Given the description of an element on the screen output the (x, y) to click on. 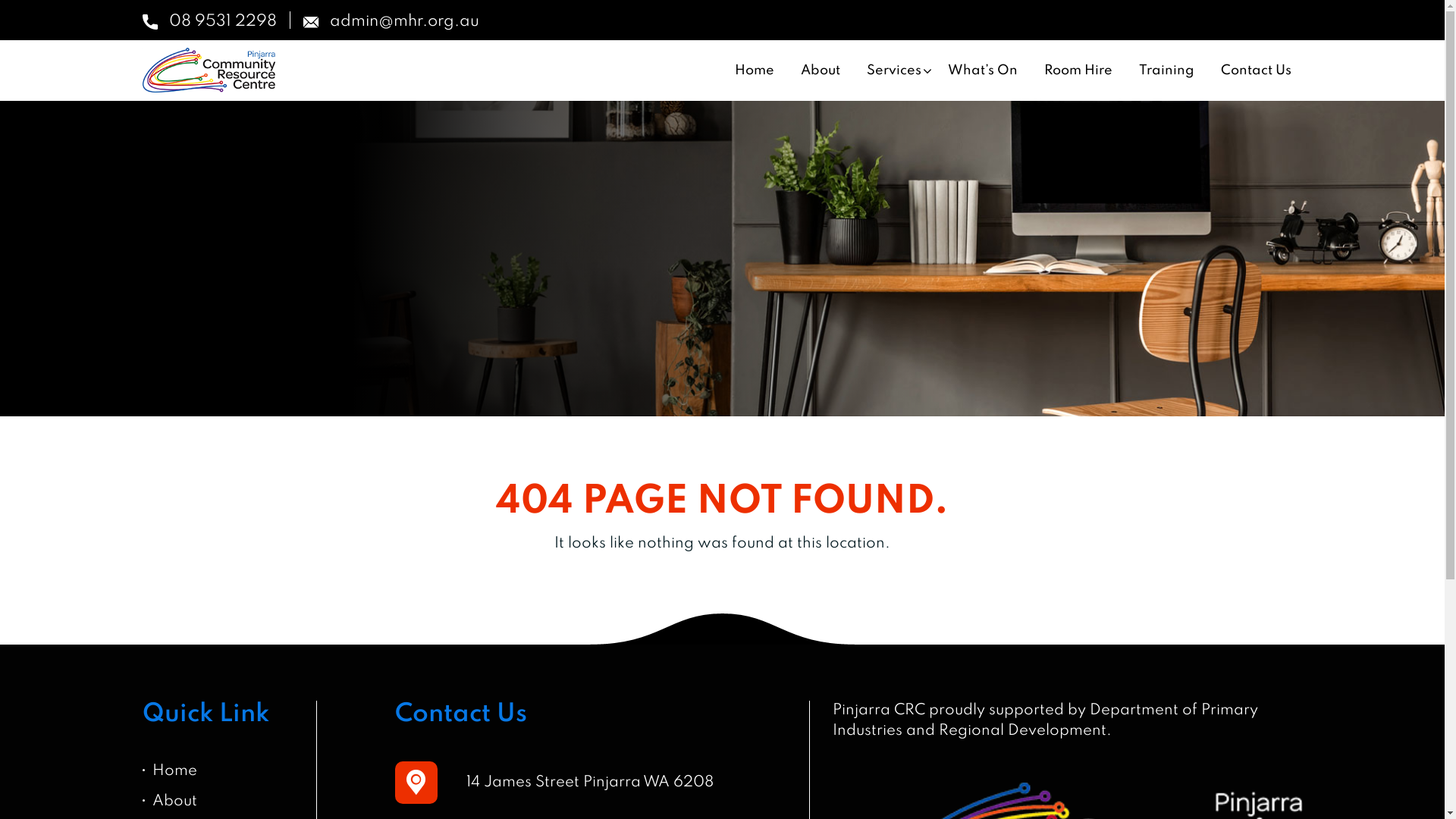
admin@mhr.org.au Element type: text (391, 19)
Contact Us Element type: text (1255, 70)
Home Element type: text (173, 771)
08 9531 2298 Element type: text (209, 19)
Services Element type: text (893, 70)
About Element type: text (819, 70)
Room Hire Element type: text (1077, 70)
Training Element type: text (1165, 70)
Home Element type: text (754, 70)
About Element type: text (173, 801)
